Given the description of an element on the screen output the (x, y) to click on. 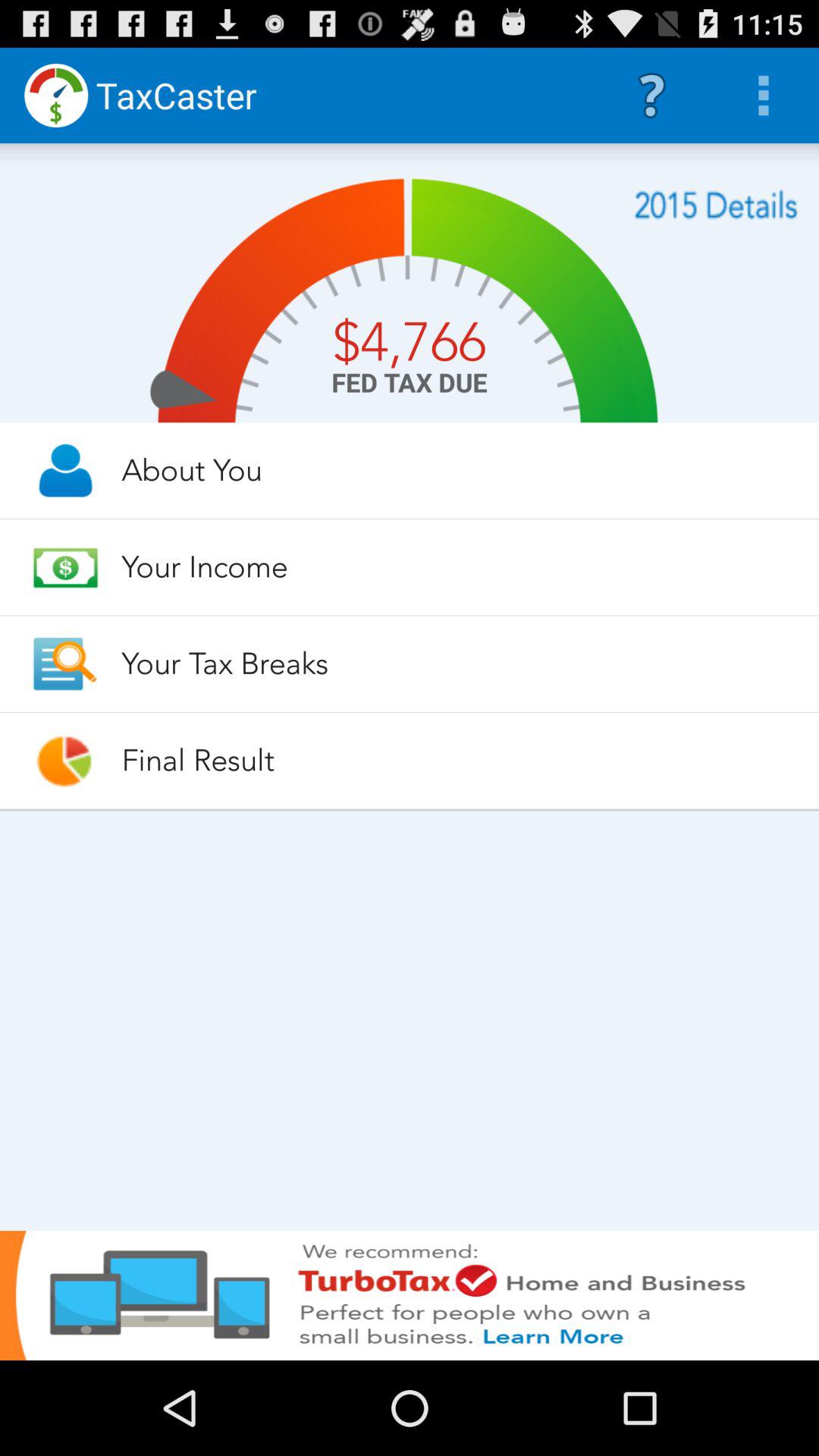
banner of advertiser (409, 1295)
